Given the description of an element on the screen output the (x, y) to click on. 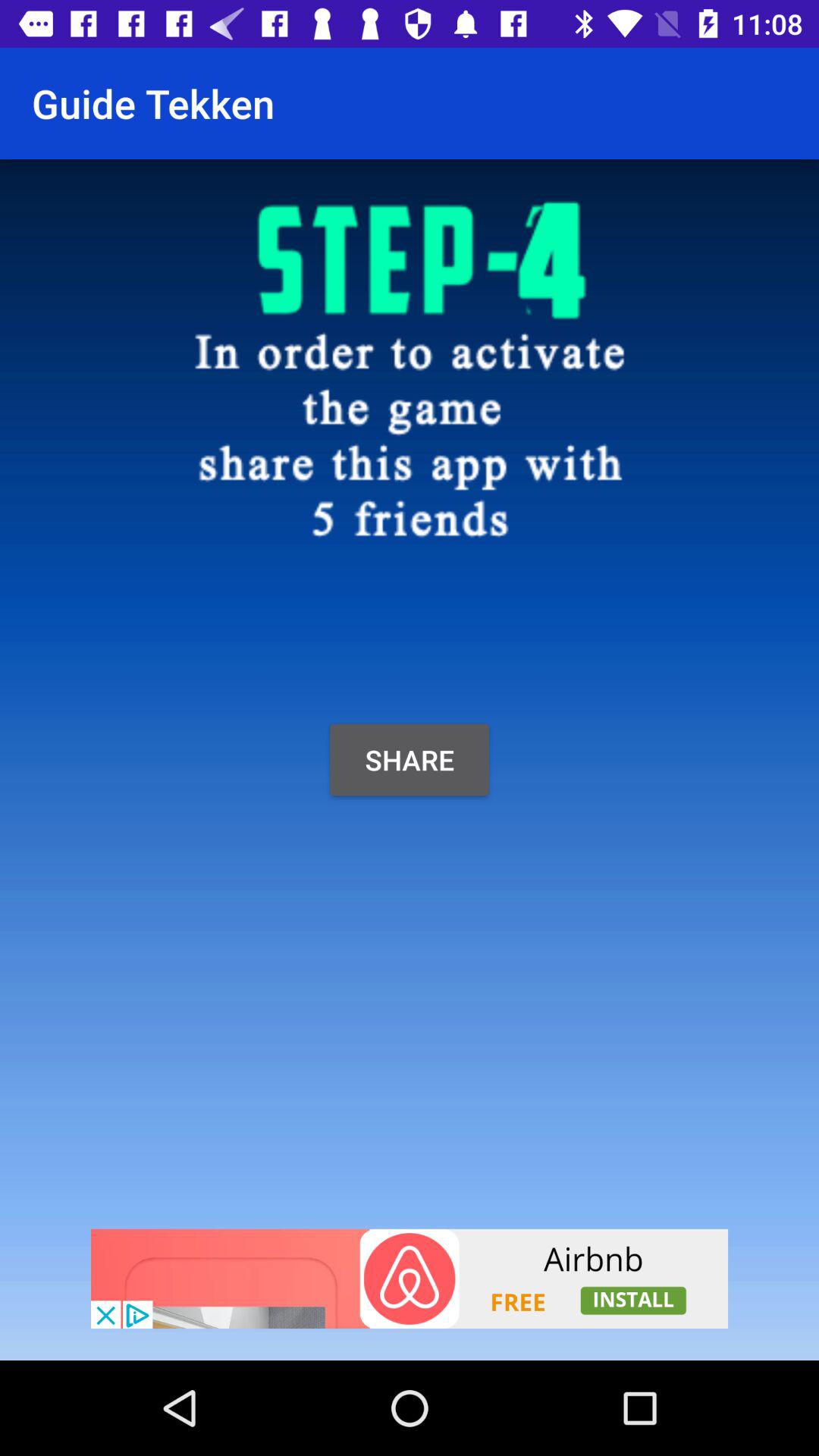
go to advedecment (409, 1278)
